Given the description of an element on the screen output the (x, y) to click on. 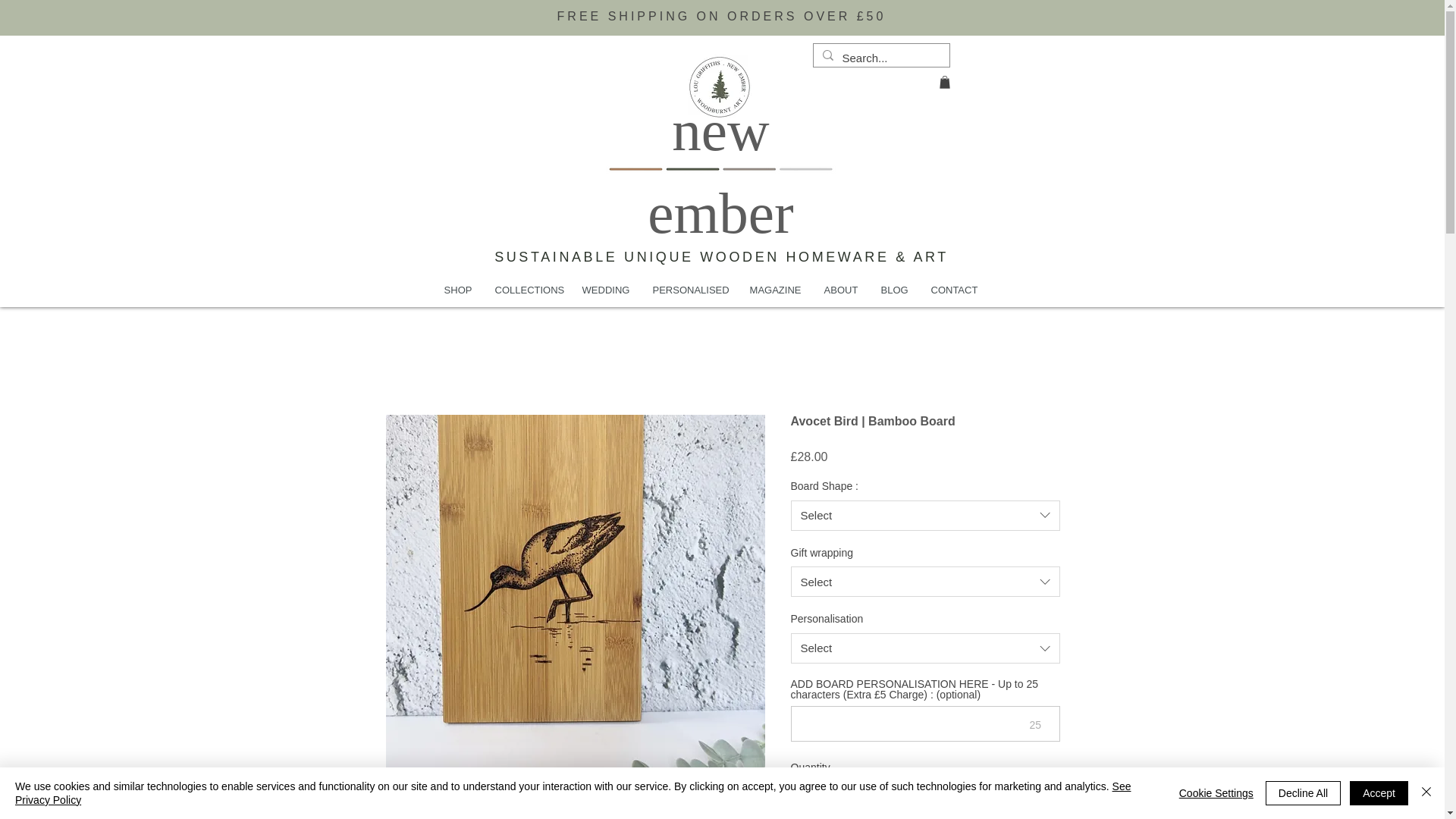
MAGAZINE (775, 290)
BLOG (893, 290)
new ember (720, 170)
WEDDING (605, 290)
CONTACT (952, 290)
1 (818, 797)
SHOP (457, 290)
Select (924, 515)
ABOUT (840, 290)
PERSONALISED (690, 290)
